Given the description of an element on the screen output the (x, y) to click on. 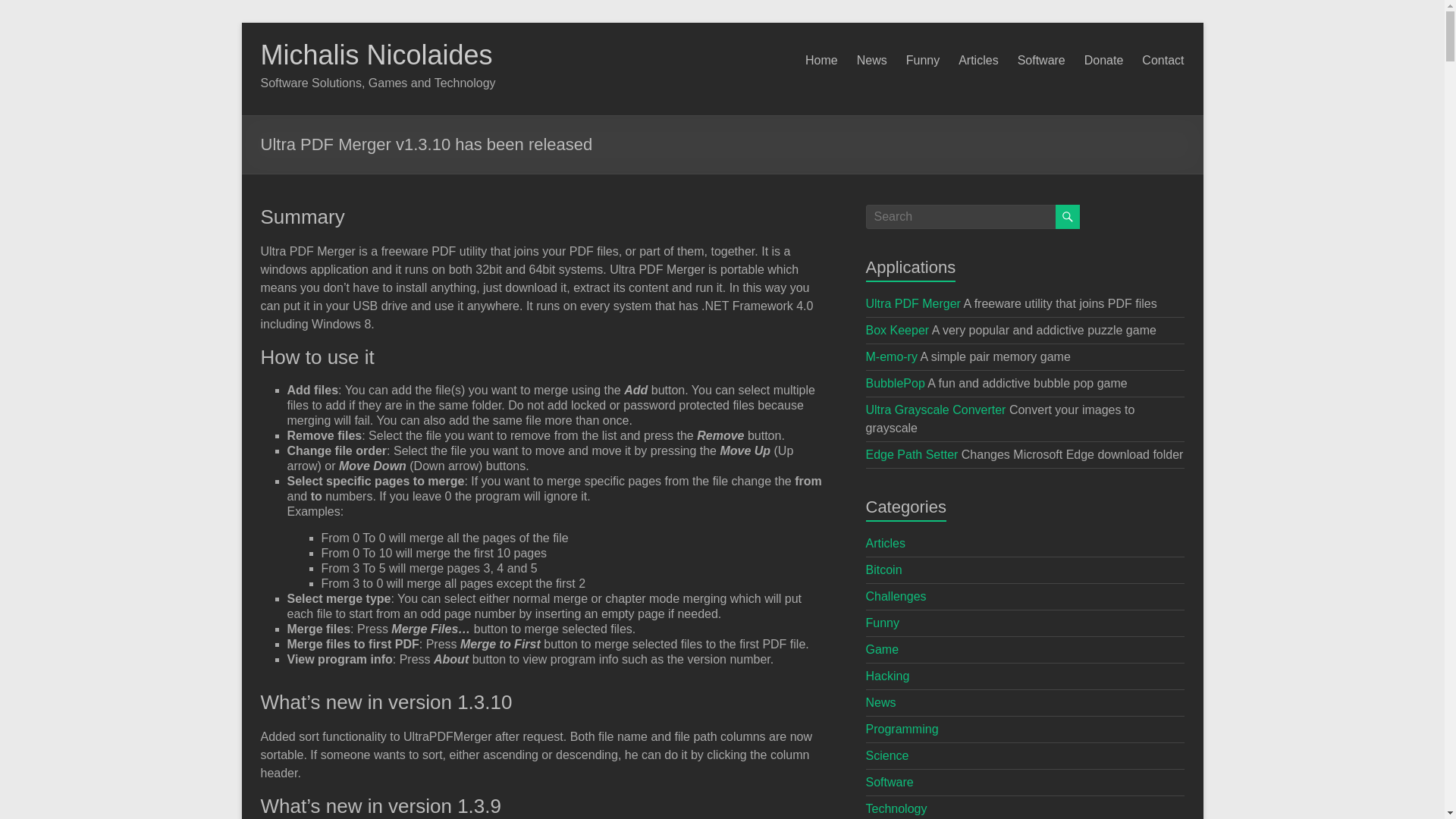
A freeware utility that joins PDF files (913, 303)
A very popular and addictive puzzle game (898, 329)
Home (821, 60)
Donate (1104, 60)
Funny (922, 60)
A simple pair memory game (891, 356)
Contact (1162, 60)
Software (1041, 60)
News (871, 60)
